Given the description of an element on the screen output the (x, y) to click on. 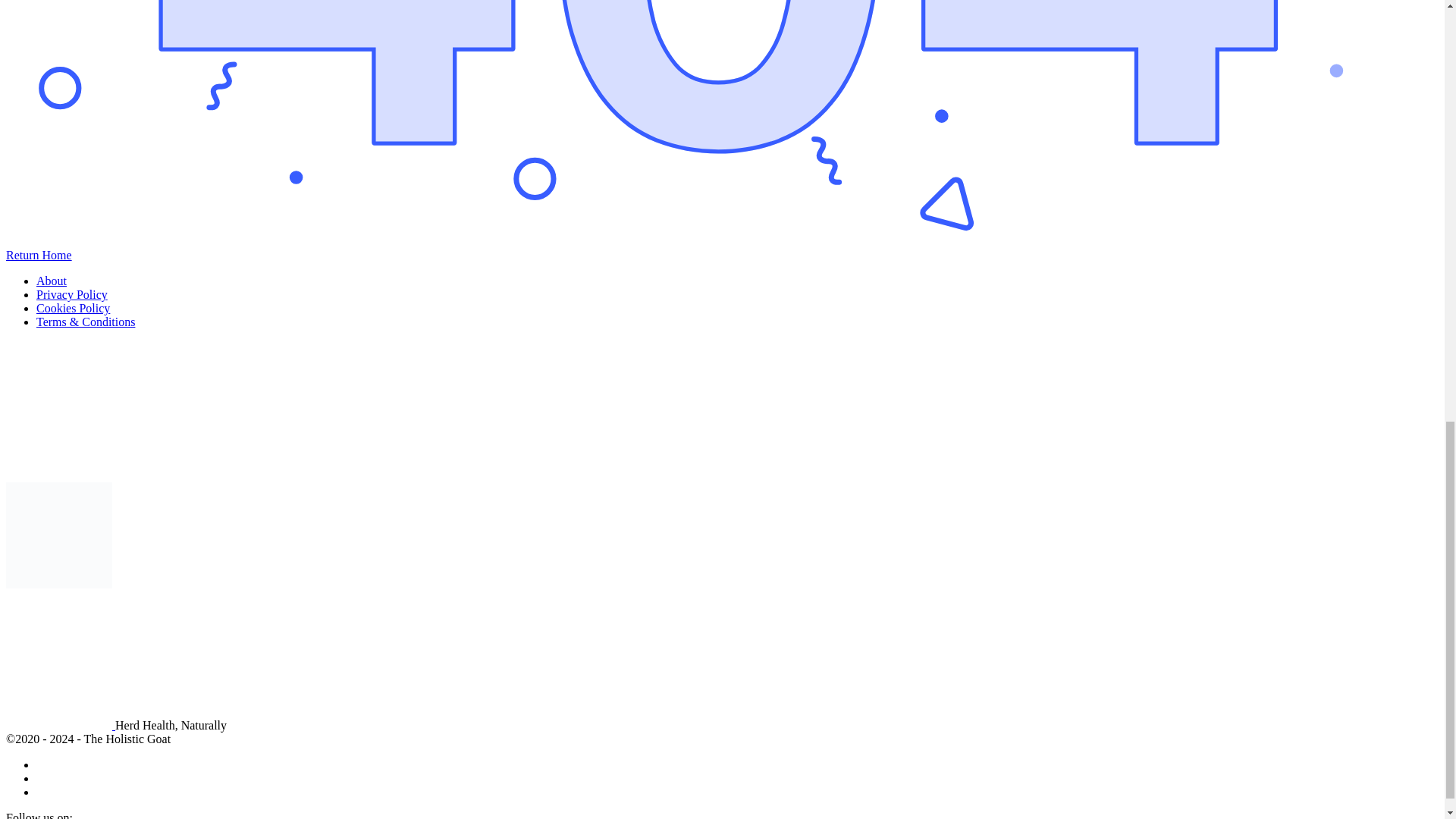
Cookies Policy (73, 308)
Return Home (38, 254)
About (51, 280)
Privacy Policy (71, 294)
